Given the description of an element on the screen output the (x, y) to click on. 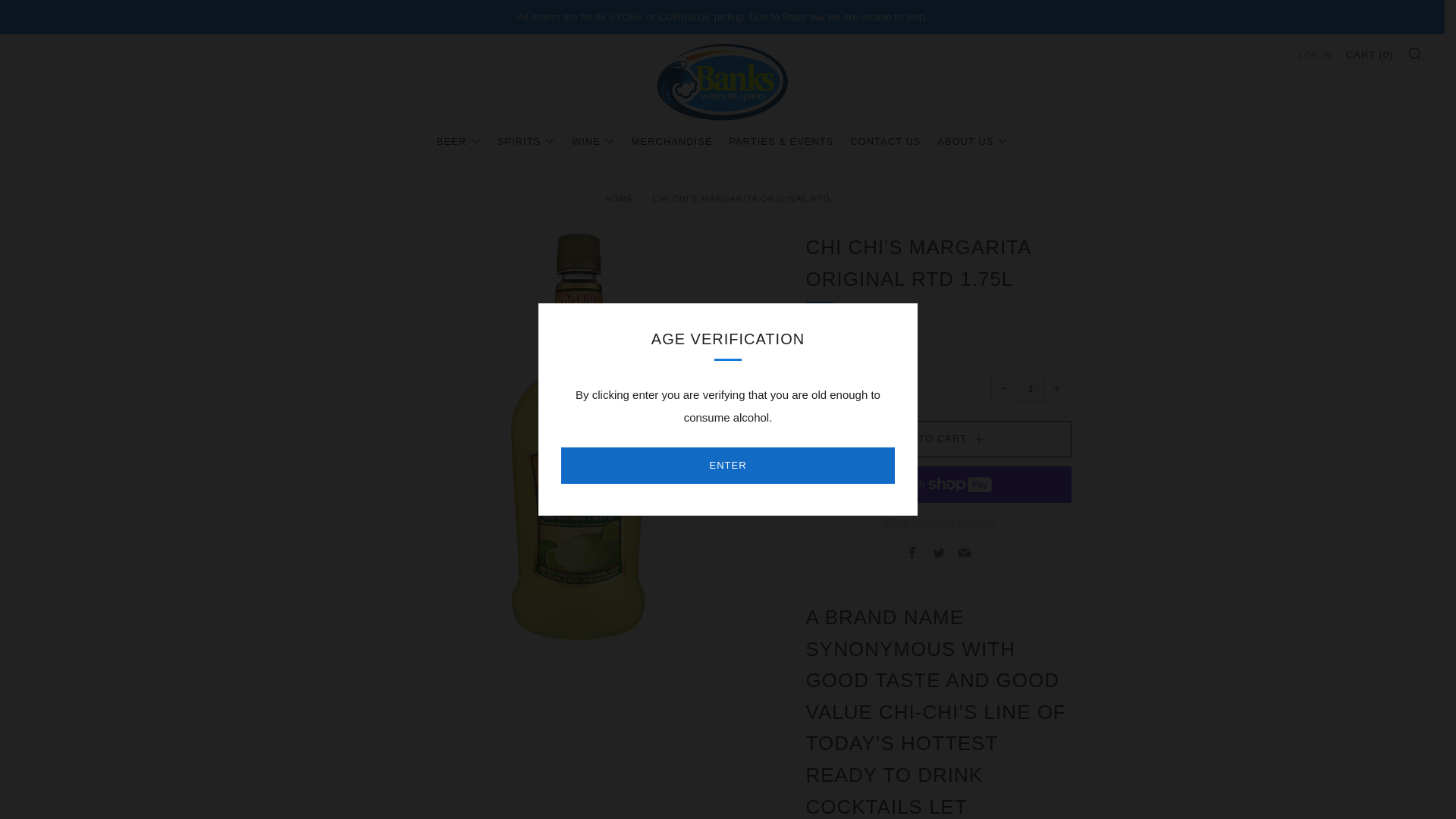
Home (619, 198)
1 (1031, 388)
ENTER (727, 465)
